Given the description of an element on the screen output the (x, y) to click on. 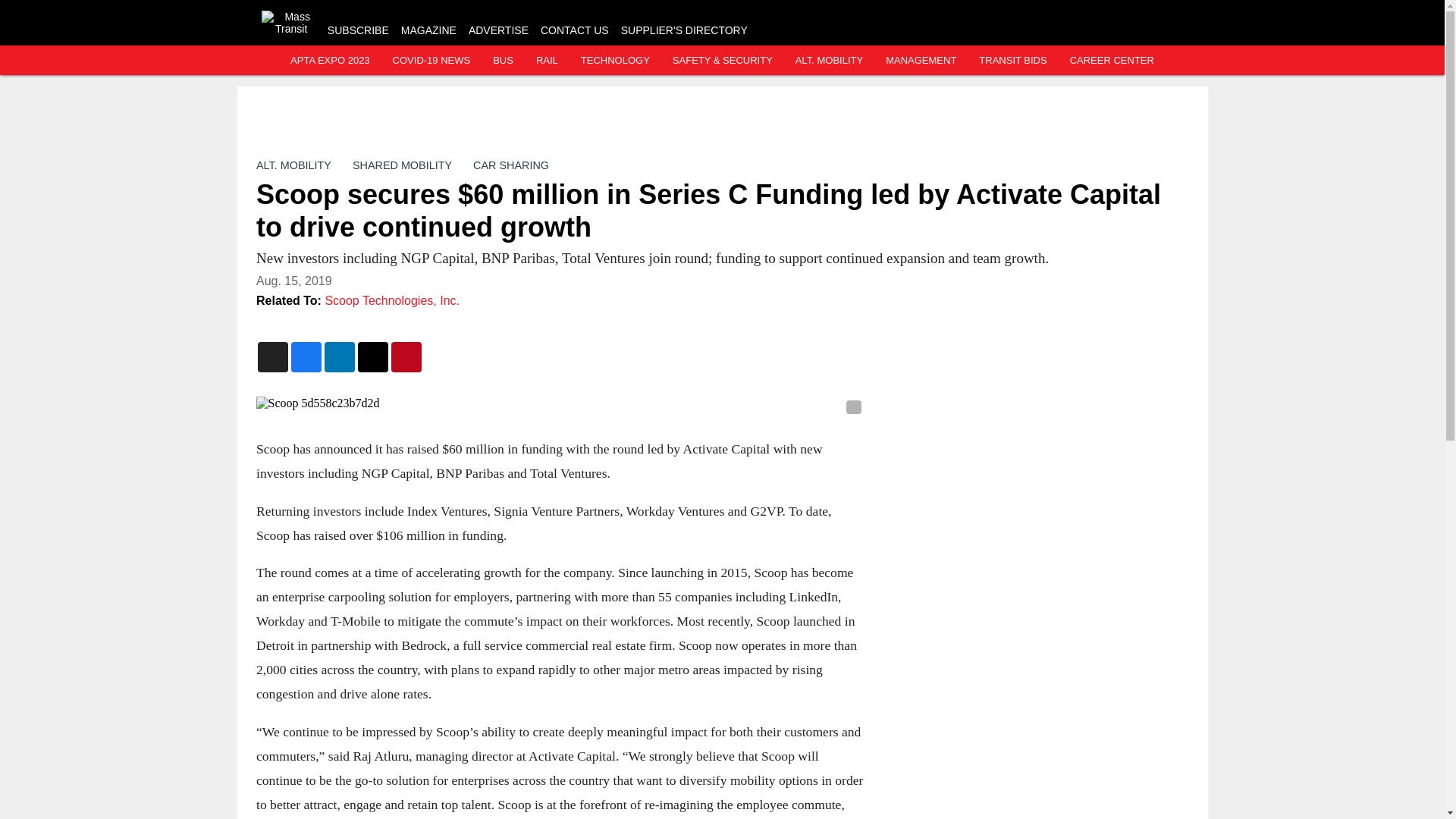
CONTACT US (574, 30)
BUS (503, 60)
ALT. MOBILITY (293, 164)
RAIL (546, 60)
COVID-19 NEWS (431, 60)
Scoop Technologies, Inc. (392, 300)
APTA EXPO 2023 (329, 60)
CAR SHARING (510, 164)
SHARED MOBILITY (401, 164)
SUBSCRIBE (357, 30)
